Given the description of an element on the screen output the (x, y) to click on. 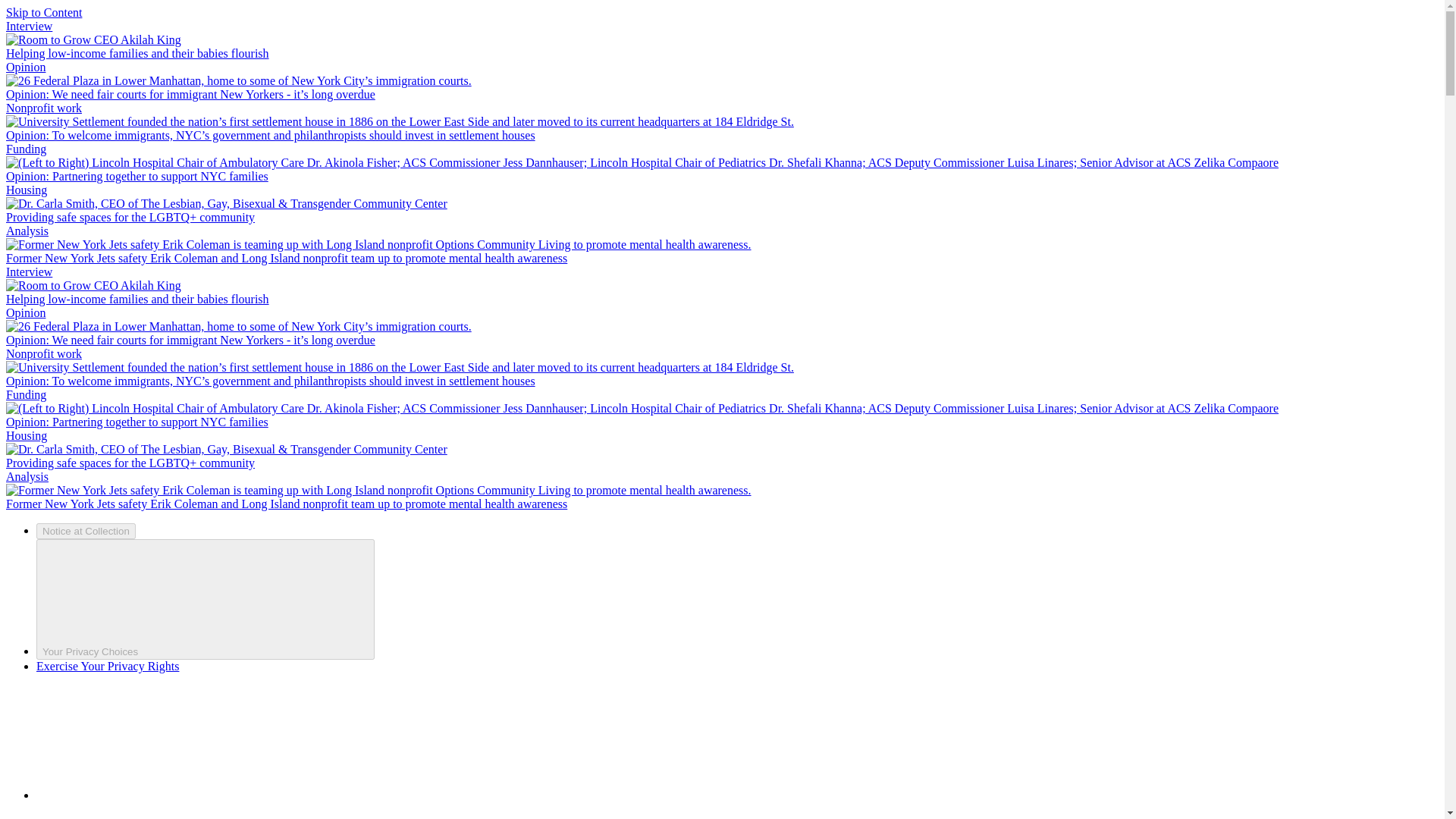
Skip to Content (43, 11)
Your Privacy Choices (205, 599)
Notice at Collection (85, 530)
Exercise Your Privacy Rights (107, 666)
